Given the description of an element on the screen output the (x, y) to click on. 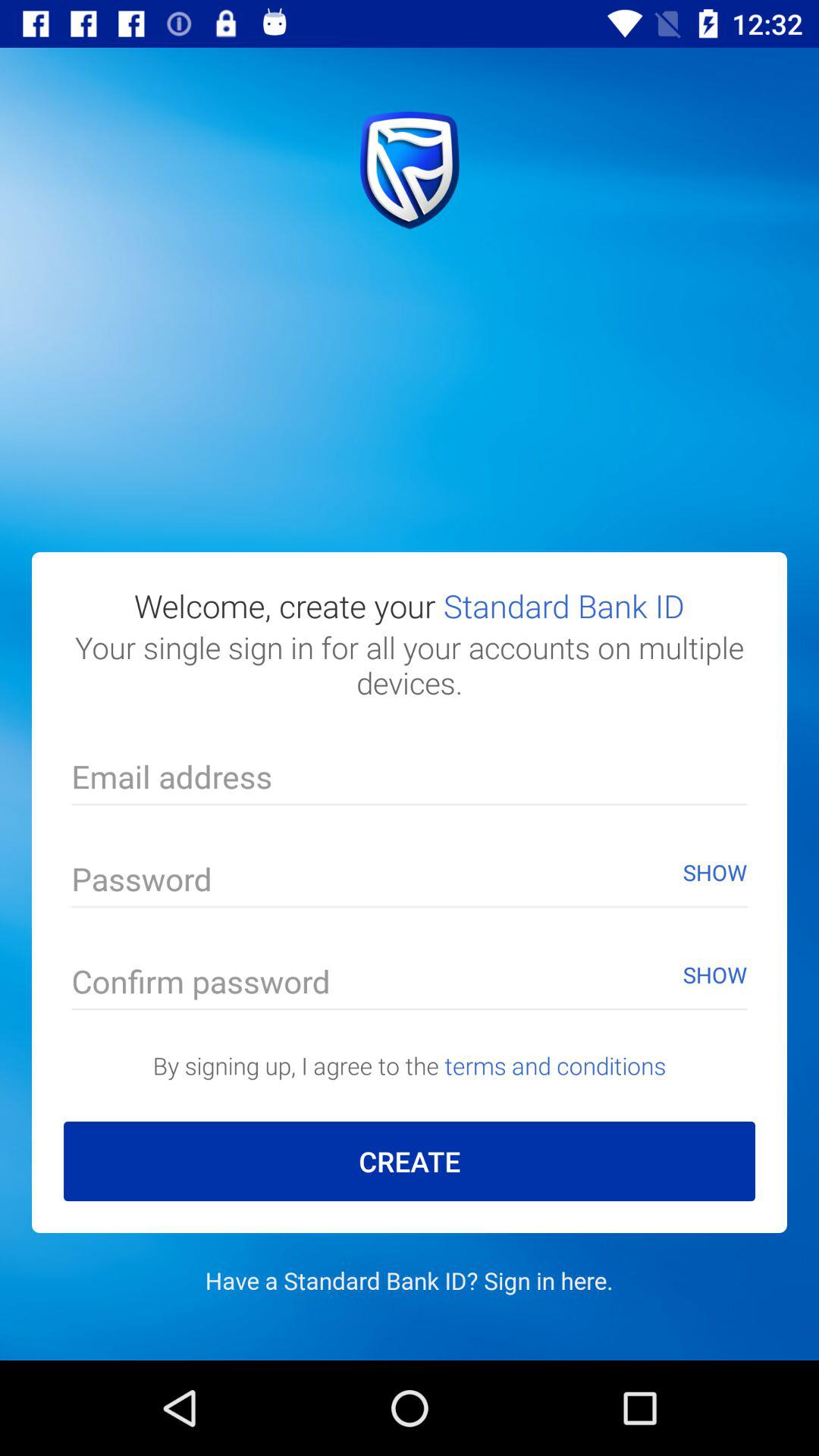
open by signing up icon (409, 1065)
